Given the description of an element on the screen output the (x, y) to click on. 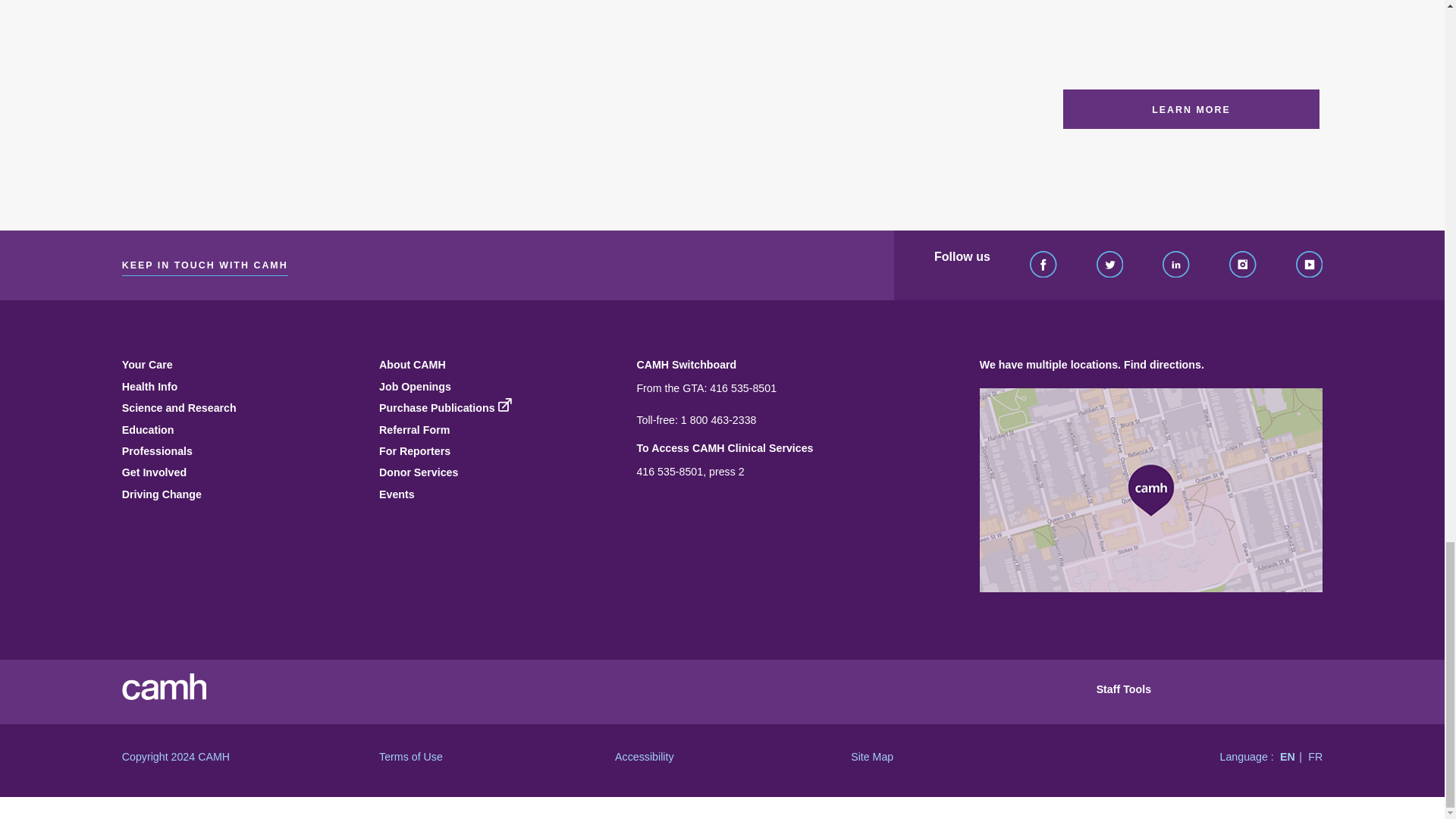
Twitter (1110, 265)
LinkedIn (1175, 265)
YouTube (1309, 265)
Map of CAMH's Queen Street Site (1150, 490)
Facebook (1043, 265)
Instagram (1242, 265)
